Given the description of an element on the screen output the (x, y) to click on. 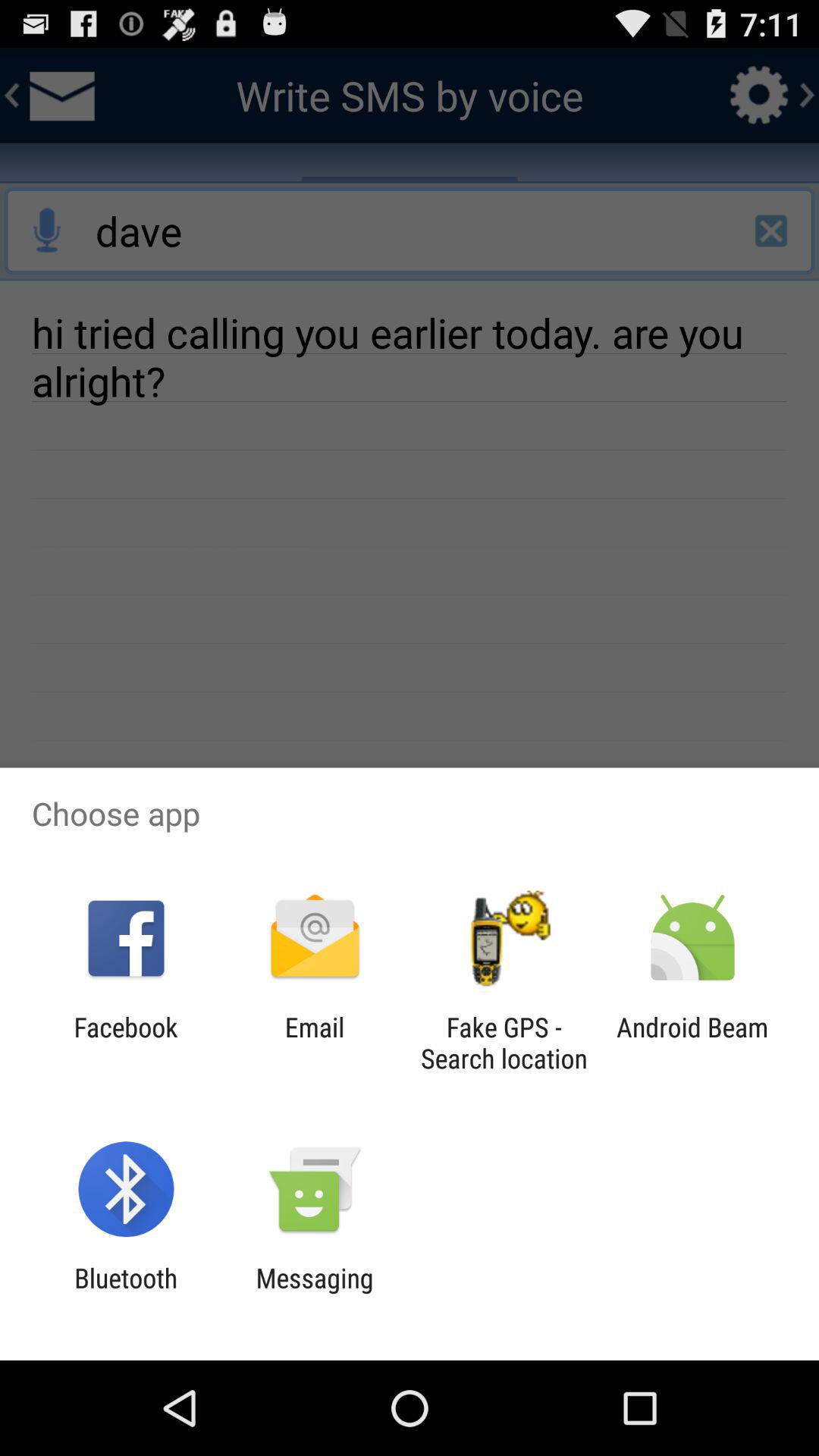
open the item to the left of the fake gps search app (314, 1042)
